Given the description of an element on the screen output the (x, y) to click on. 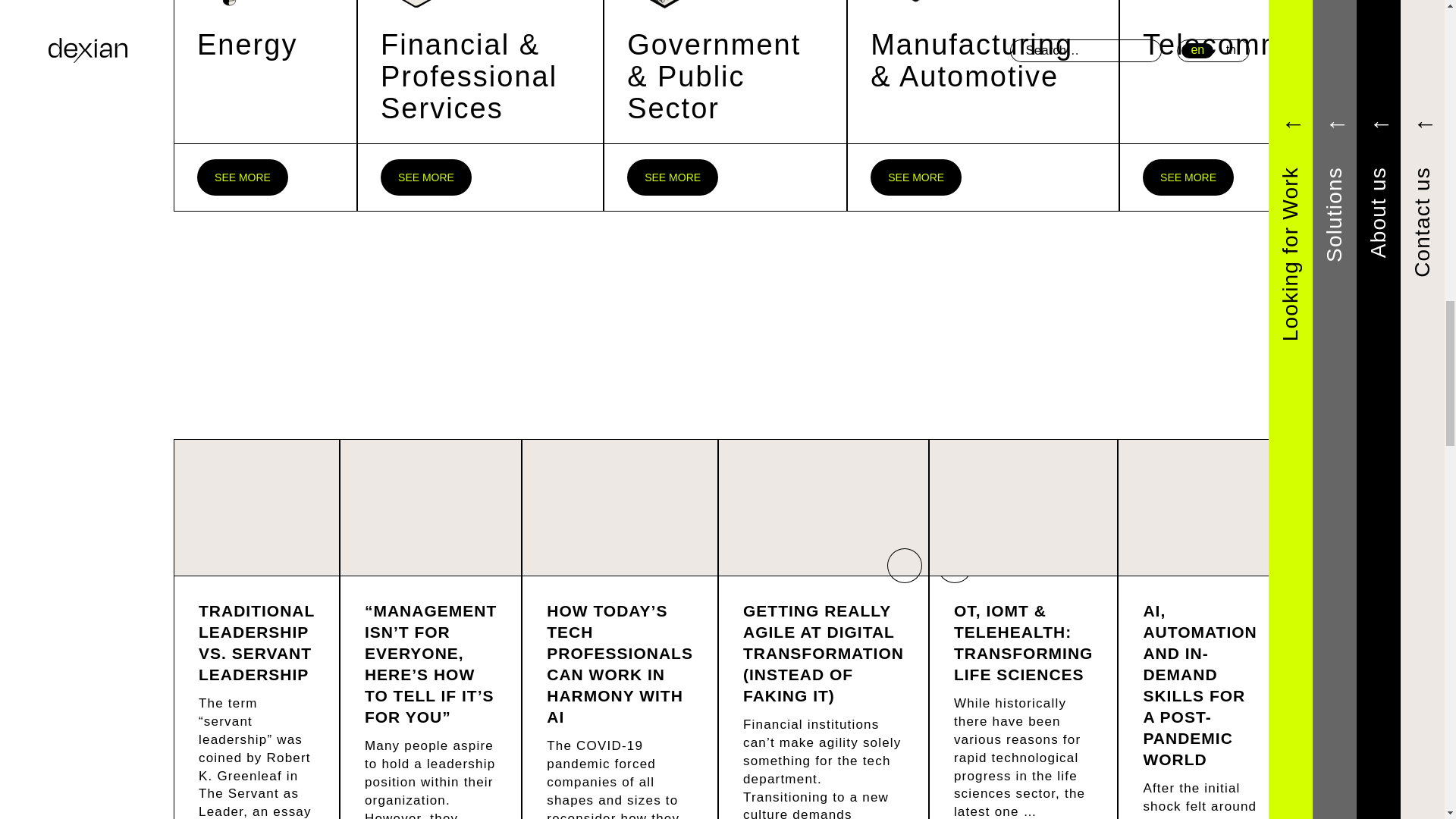
SEE MORE (672, 176)
SEE MORE (242, 176)
SEE MORE (1187, 176)
SEE MORE (915, 176)
SEE MORE (425, 176)
